Given the description of an element on the screen output the (x, y) to click on. 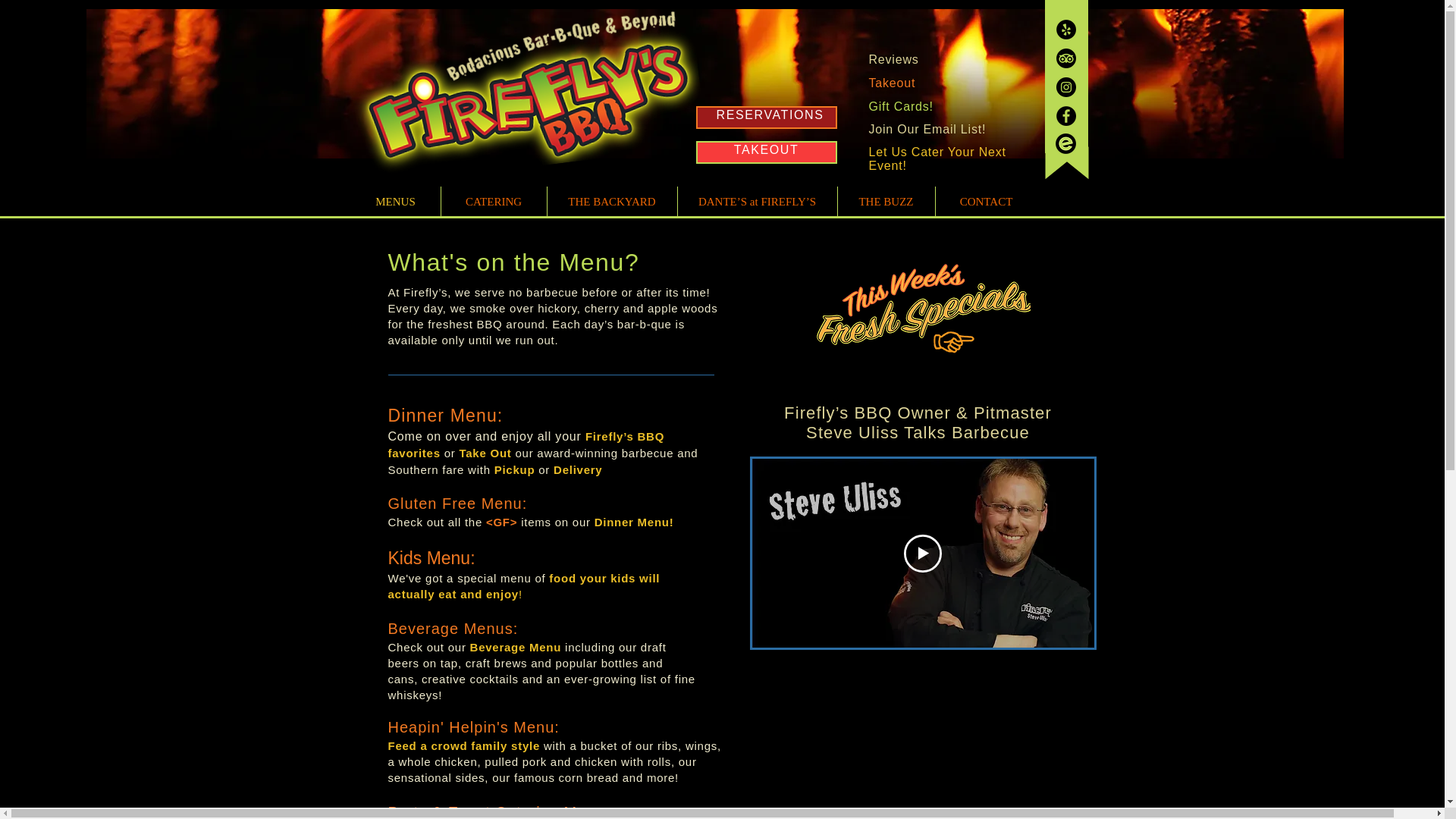
RESERVATIONS (770, 114)
TAKEOUT (766, 149)
MENUS (394, 201)
Reviews (893, 59)
Gift Cards! (901, 106)
Takeout (892, 82)
Join Our Email List! (928, 128)
THE BACKYARD (612, 201)
THE BUZZ (885, 201)
Let Us Cater Your Next Event! (937, 158)
